Given the description of an element on the screen output the (x, y) to click on. 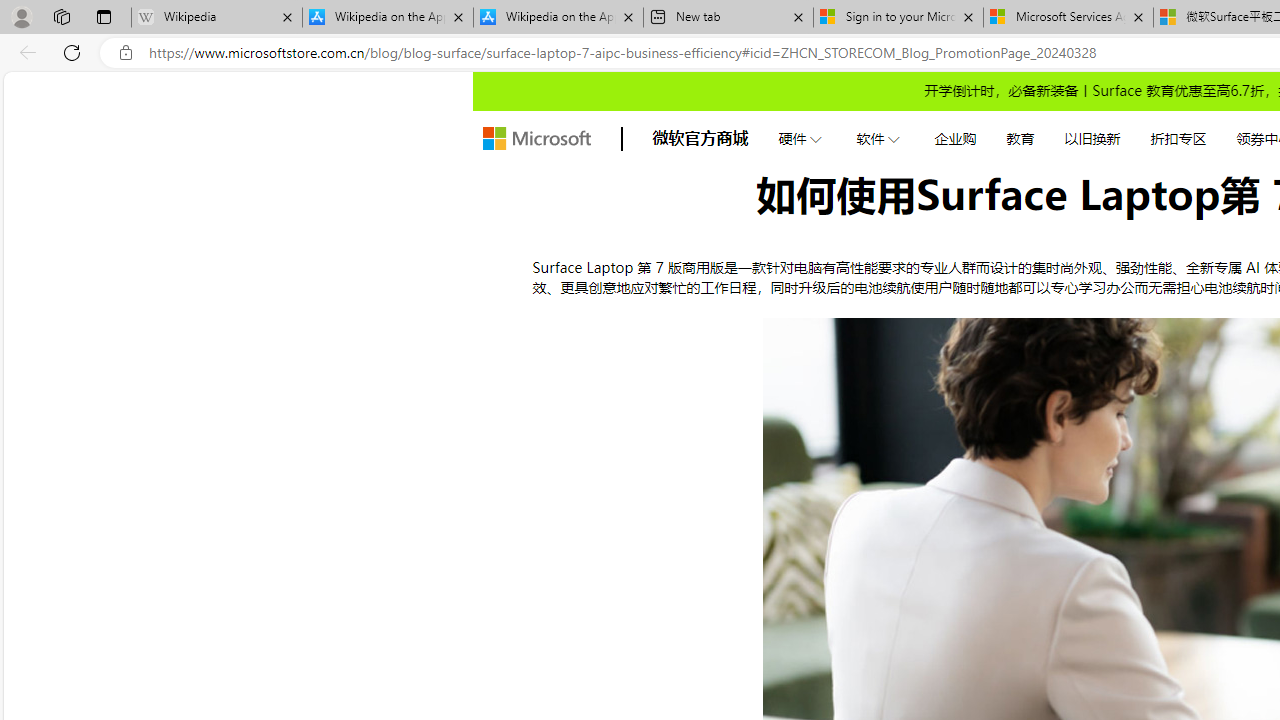
store logo (536, 138)
